Given the description of an element on the screen output the (x, y) to click on. 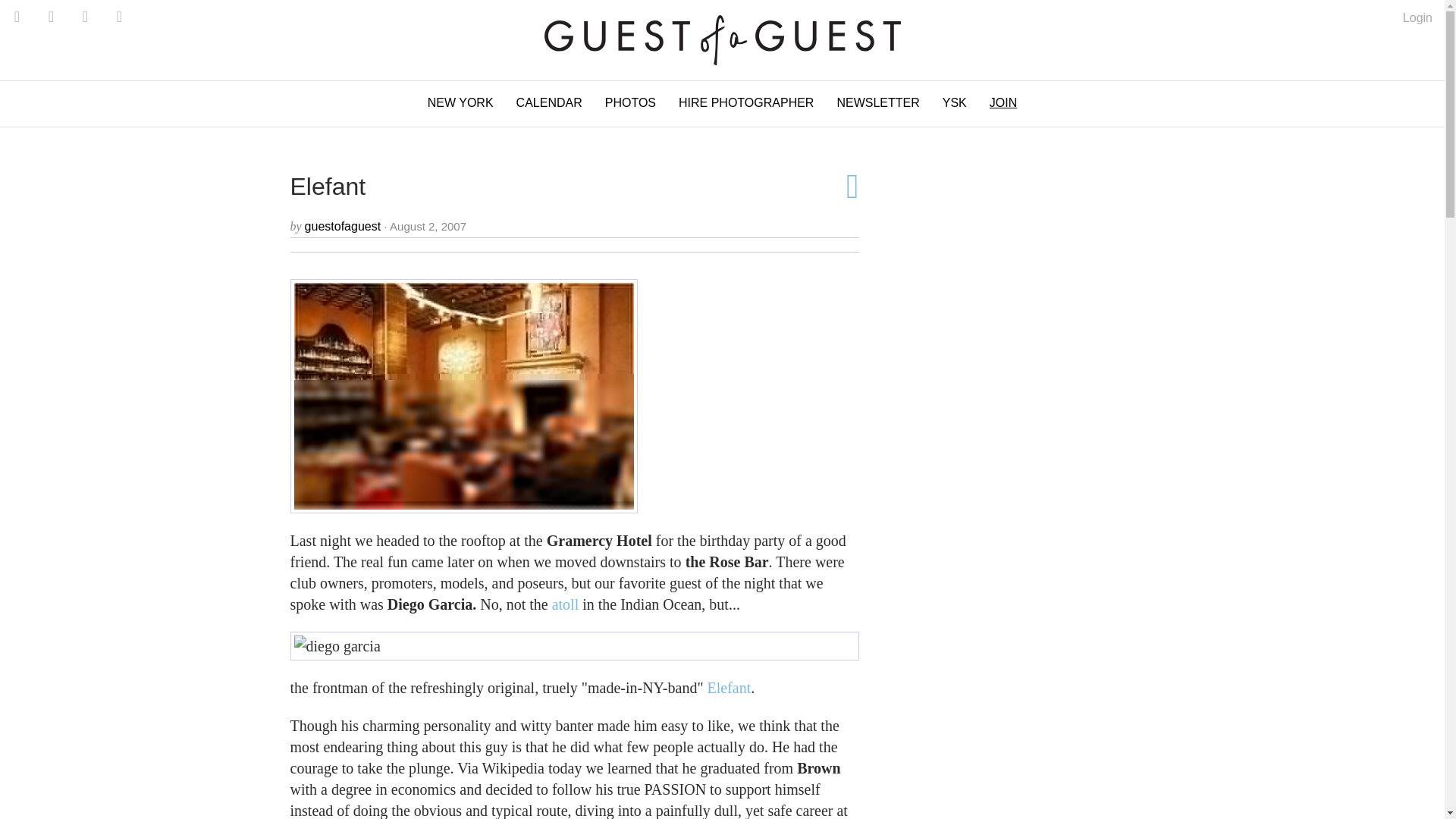
HIRE PHOTOGRAPHER (745, 103)
NEW YORK (460, 103)
PHOTOS (630, 103)
Elefant (729, 687)
atoll (565, 604)
NEWSLETTER (877, 103)
JOIN (1002, 103)
Login (1417, 17)
YSK (954, 103)
CALENDAR (549, 103)
